Given the description of an element on the screen output the (x, y) to click on. 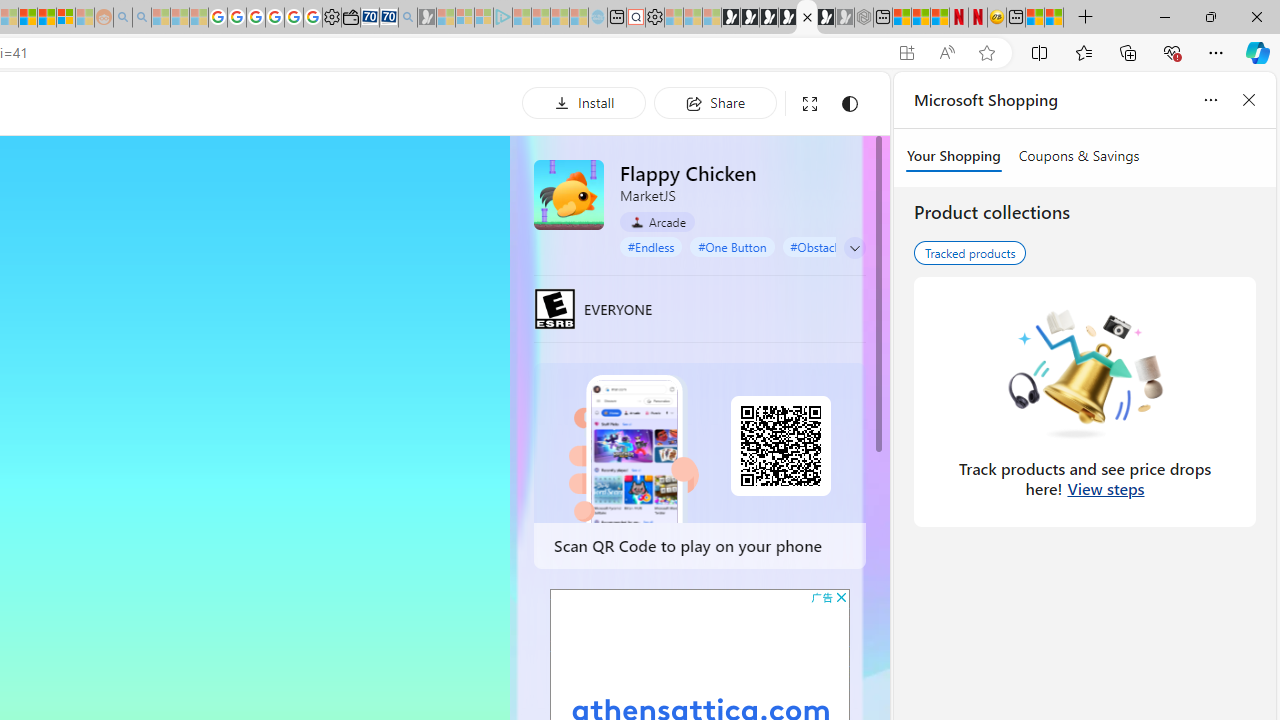
Change to dark mode (849, 103)
Arcade (657, 221)
EVERYONE (554, 308)
